Given the description of an element on the screen output the (x, y) to click on. 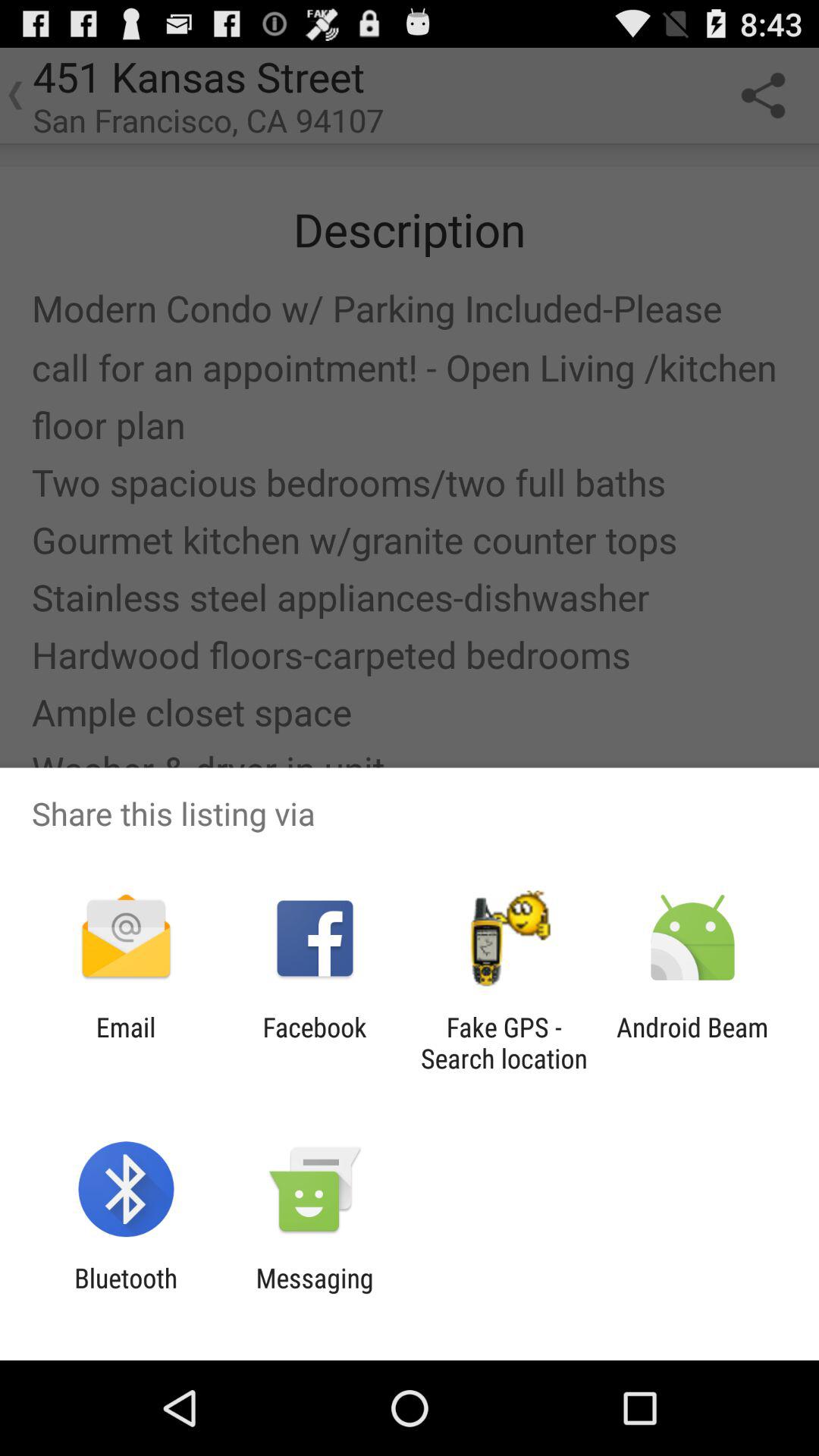
select app to the right of bluetooth icon (314, 1293)
